Given the description of an element on the screen output the (x, y) to click on. 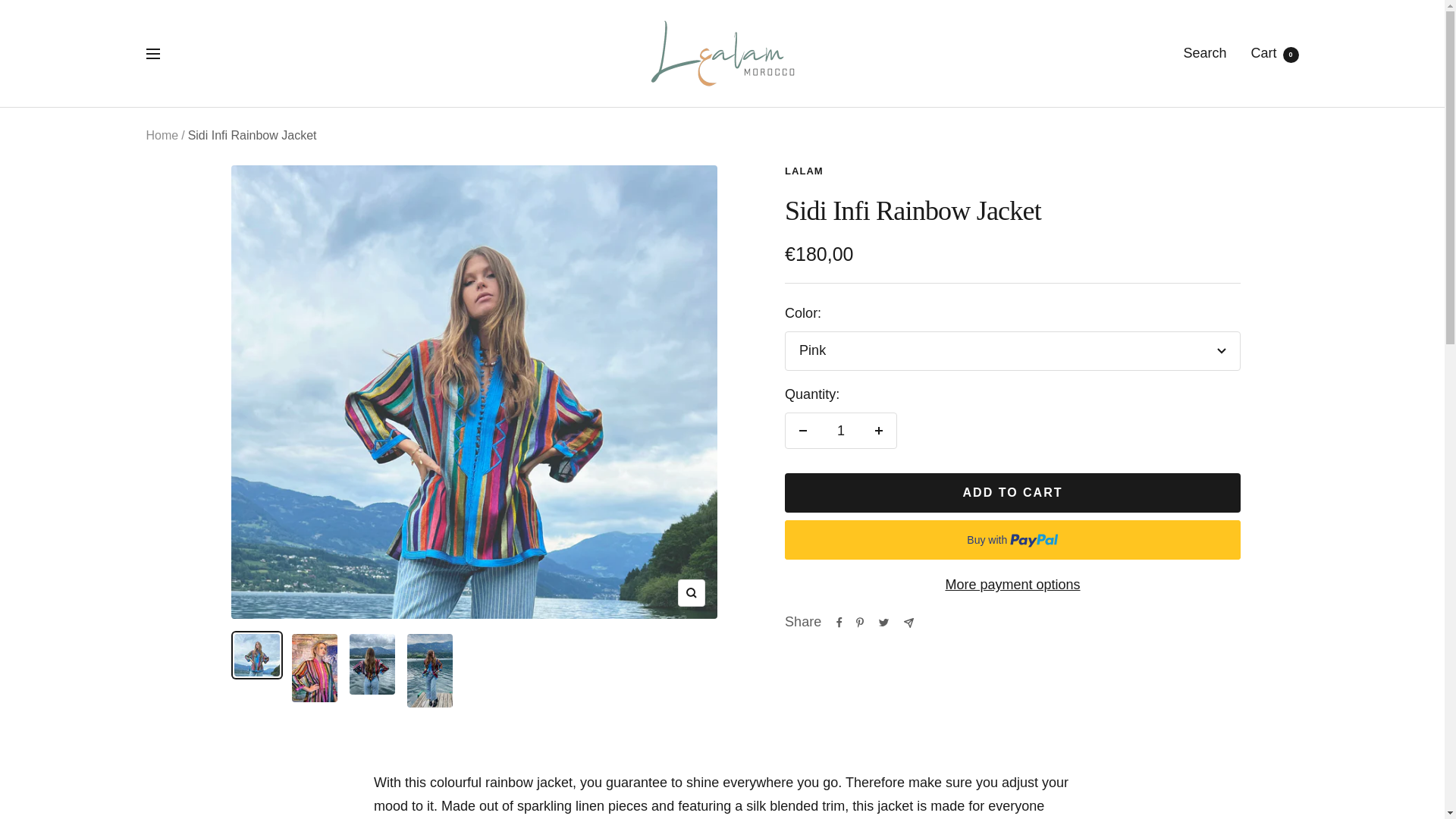
Blue (1012, 429)
Navigation (151, 53)
Increase quantity (878, 430)
Lalam Morocco (722, 53)
LALAM (804, 170)
Home (161, 134)
ADD TO CART (1012, 492)
Search (1203, 52)
Pink (1012, 394)
Zoom (691, 592)
Decrease quantity (803, 430)
Pink (1012, 351)
More payment options (1274, 52)
1 (1012, 585)
